Given the description of an element on the screen output the (x, y) to click on. 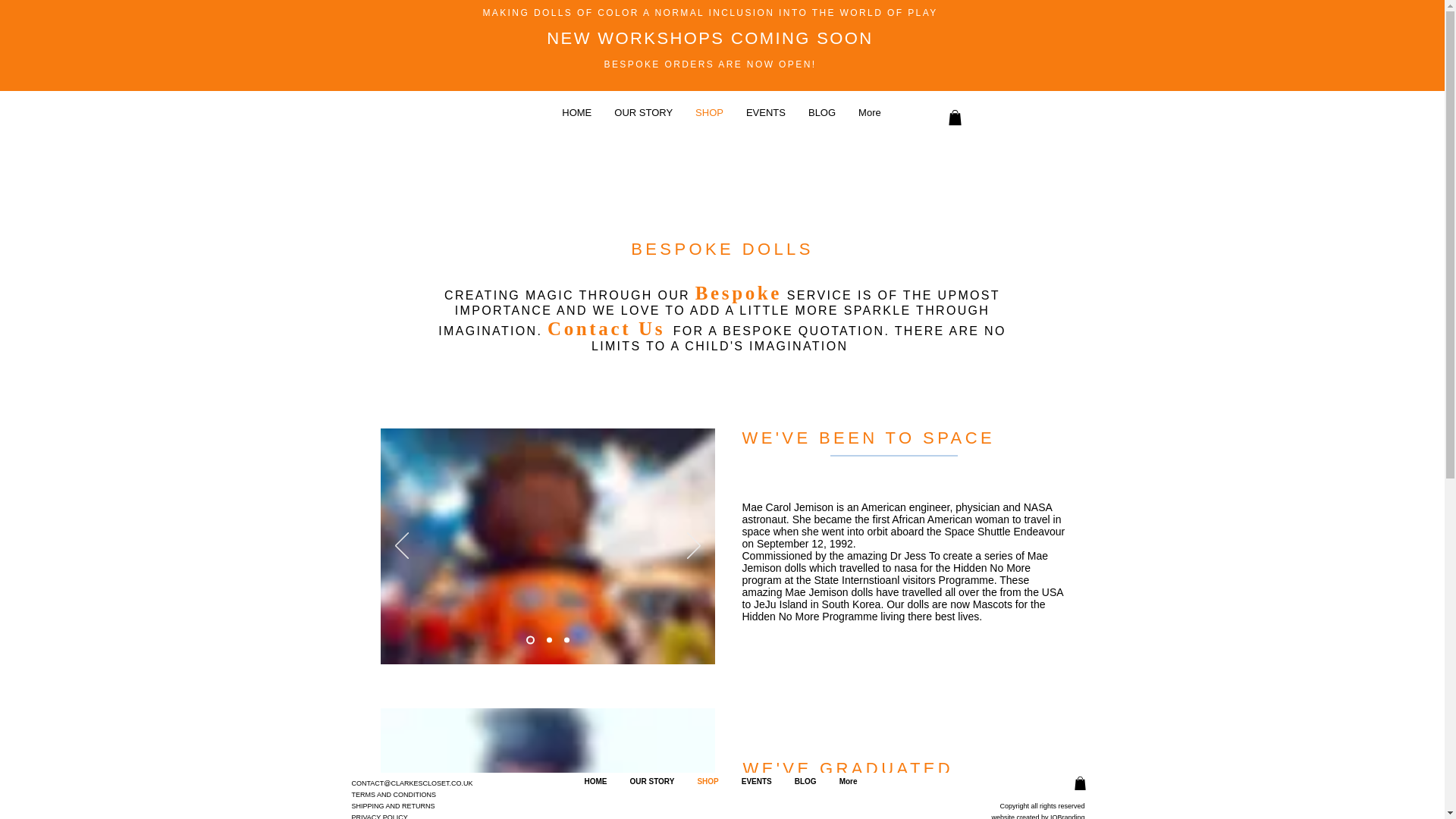
SHIPPING AND RETURNS (393, 804)
Contact Us (606, 328)
HOME (594, 790)
TERMS AND CONDITIONS (394, 793)
OUR STORY (651, 790)
OUR STORY (643, 117)
PRIVACY POLICY (379, 814)
HOME (576, 117)
SHOP (709, 117)
BLOG (821, 117)
